Given the description of an element on the screen output the (x, y) to click on. 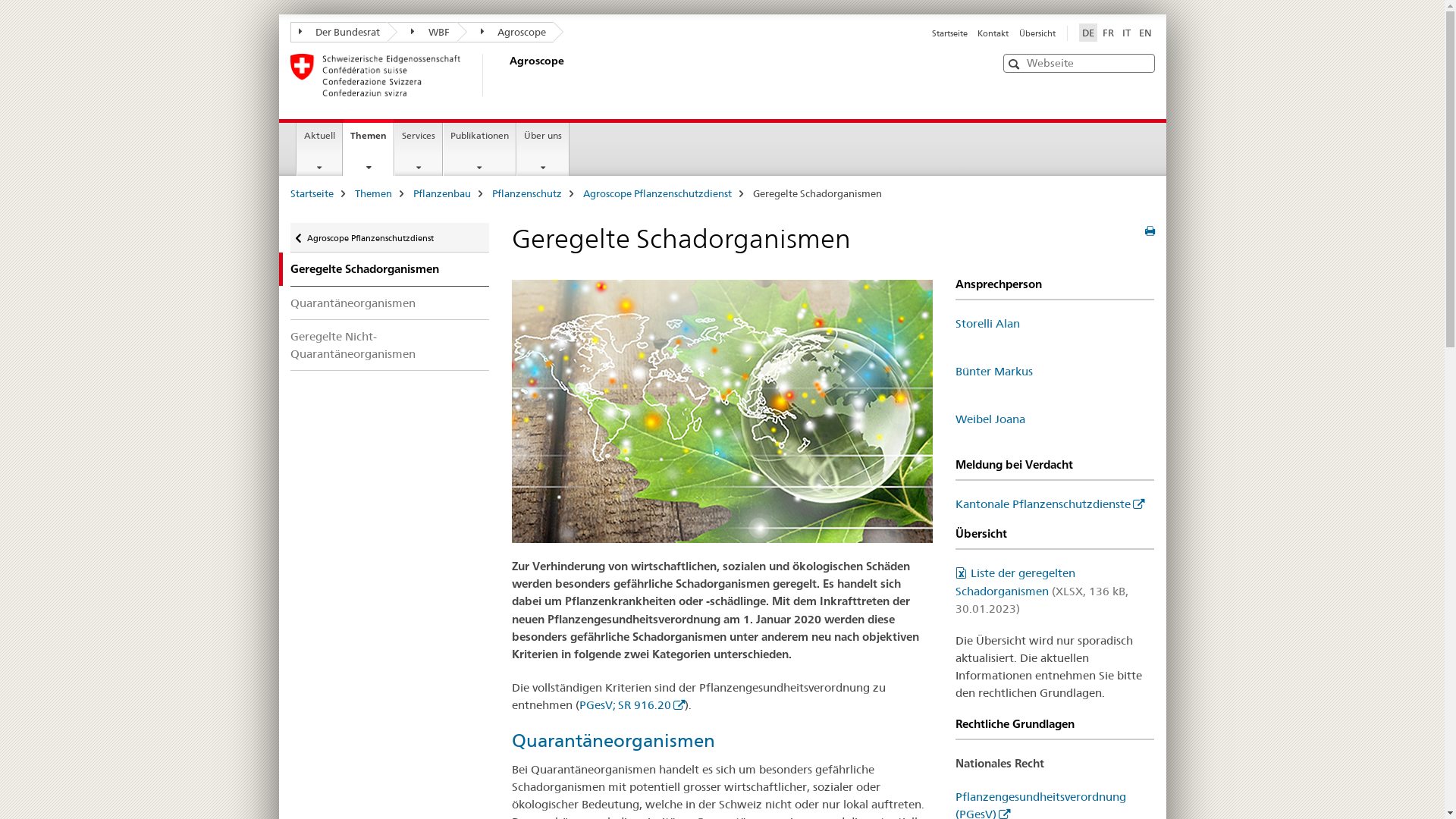
Der Bundesrat Element type: text (338, 31)
Kantonale Pflanzenschutzdienste Element type: text (1049, 503)
Publikationen Element type: text (479, 148)
PGesV; SR 916.20 Element type: text (631, 704)
Pflanzenbau Element type: text (441, 193)
DE Element type: text (1087, 32)
Agroscope Element type: text (504, 31)
Agroscope Pflanzenschutzdienst Element type: text (656, 193)
FR Element type: text (1108, 32)
IT Element type: text (1126, 32)
WBF Element type: text (422, 31)
Weibel Joana Element type: text (990, 418)
Kontakt Element type: text (992, 33)
Themen
current page Element type: text (368, 147)
Seite drucken Element type: hover (1149, 230)
EN Element type: text (1144, 32)
Services Element type: text (418, 148)
Storelli Alan Element type: text (987, 323)
Startseite Element type: text (949, 33)
Startseite Element type: text (310, 193)
Themen Element type: text (373, 193)
Agroscope Element type: text (505, 74)
Pflanzenschutz Element type: text (526, 193)
Aktuell Element type: text (319, 148)
